Given the description of an element on the screen output the (x, y) to click on. 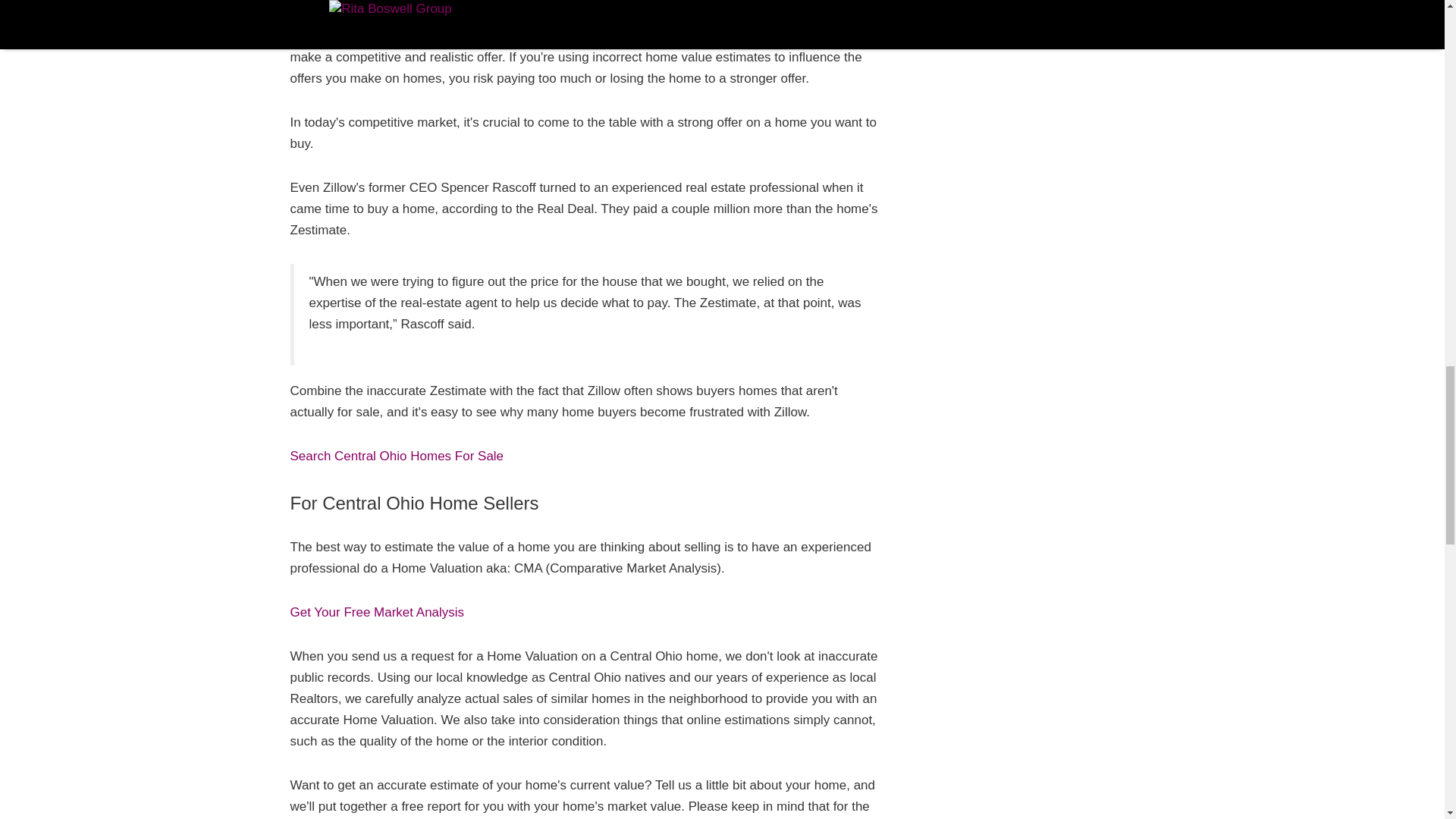
Free CMA for Central Ohio Homeowners (376, 612)
Find Homes For Sale in Central Ohio (396, 455)
